Given the description of an element on the screen output the (x, y) to click on. 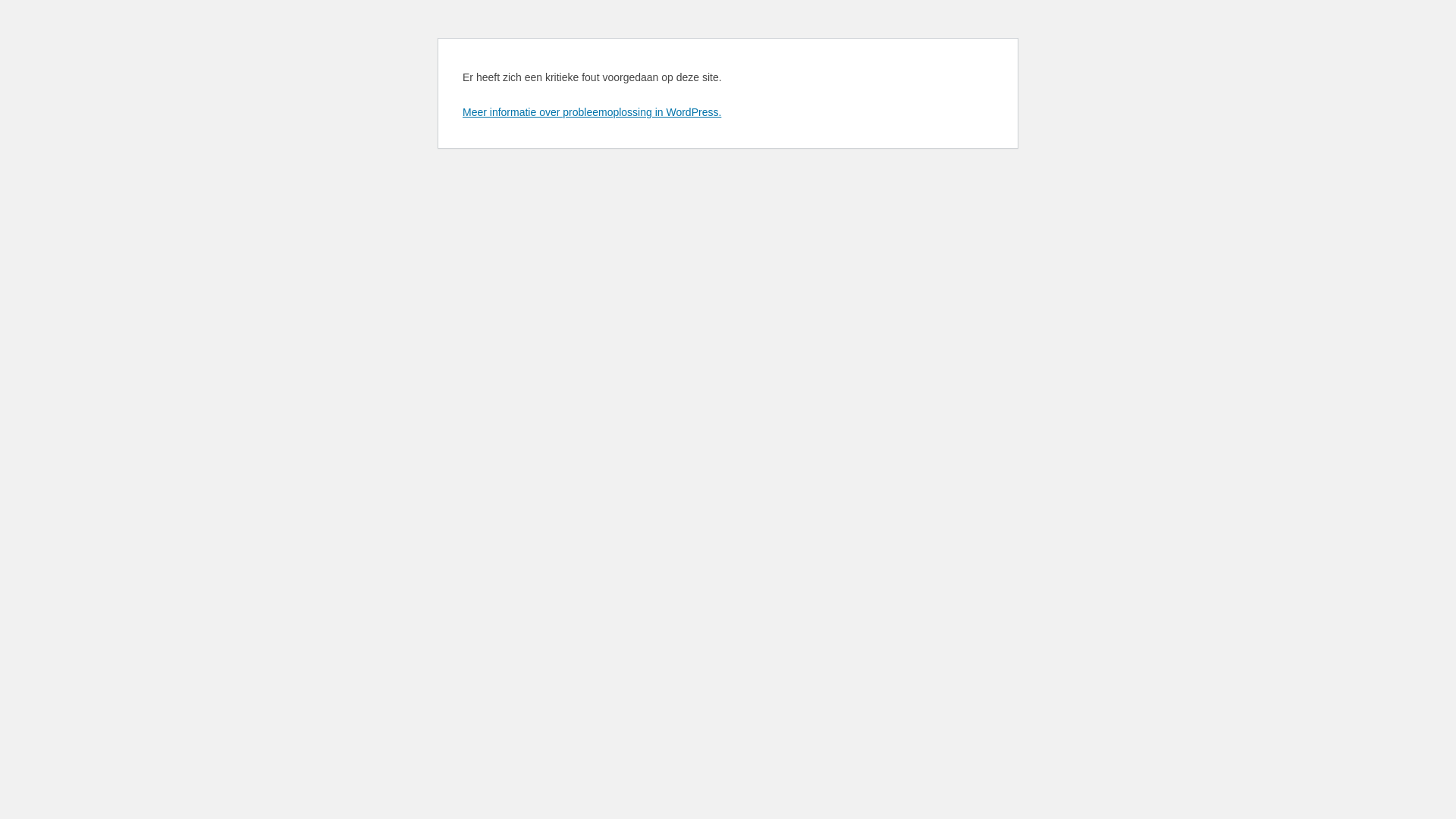
Meer informatie over probleemoplossing in WordPress. Element type: text (591, 112)
